Given the description of an element on the screen output the (x, y) to click on. 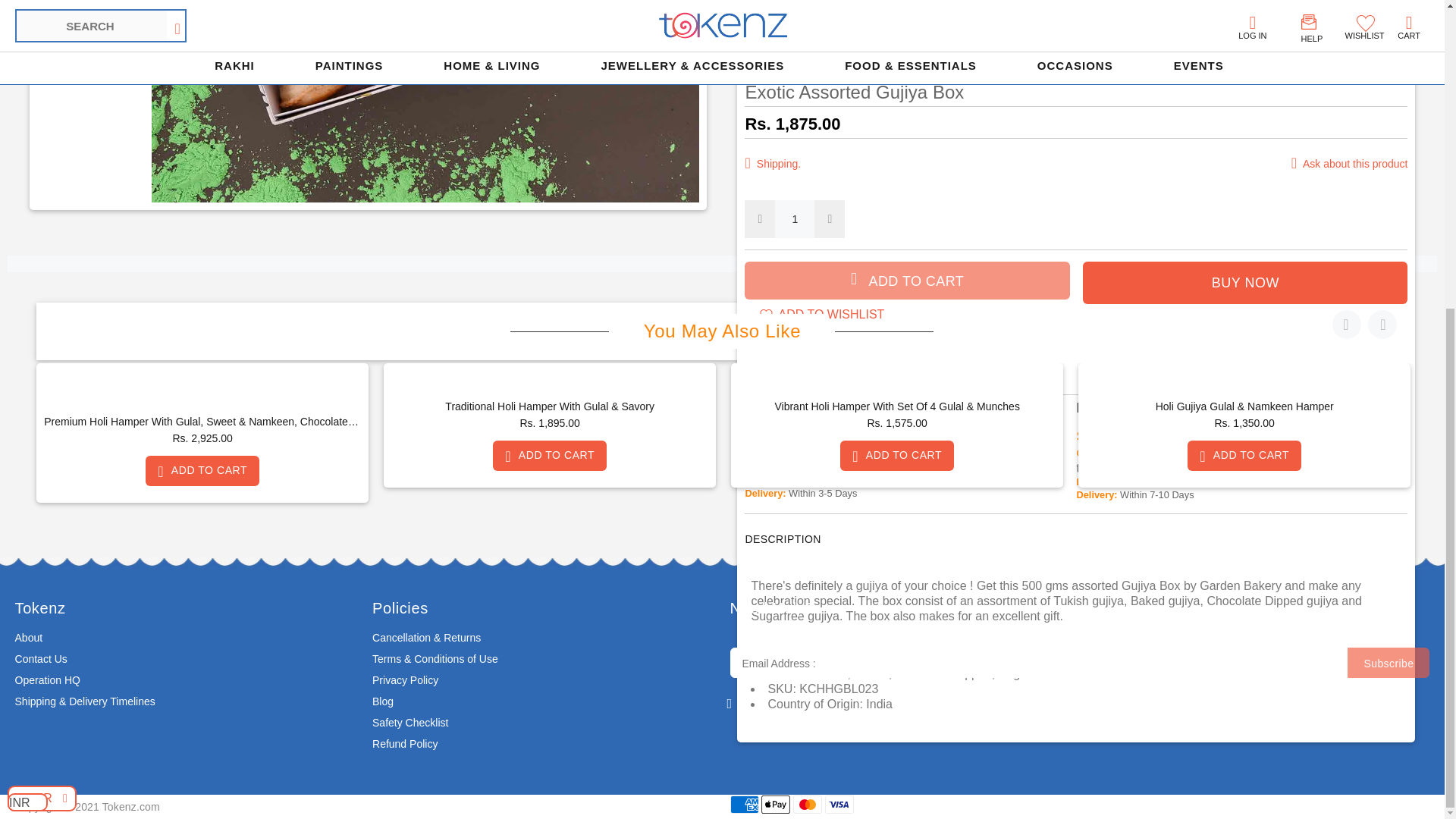
Mastercard (807, 804)
American Express (743, 804)
Apple Pay (775, 804)
Visa (839, 804)
